Given the description of an element on the screen output the (x, y) to click on. 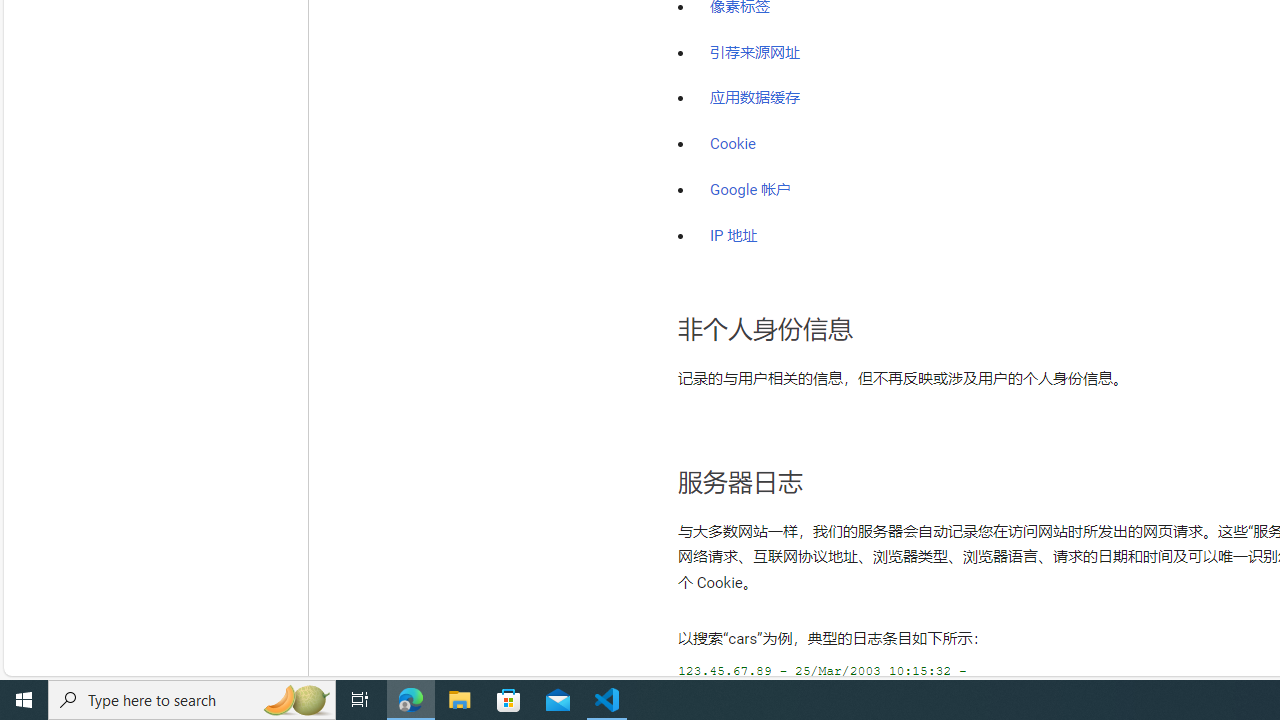
Cookie (733, 144)
